Given the description of an element on the screen output the (x, y) to click on. 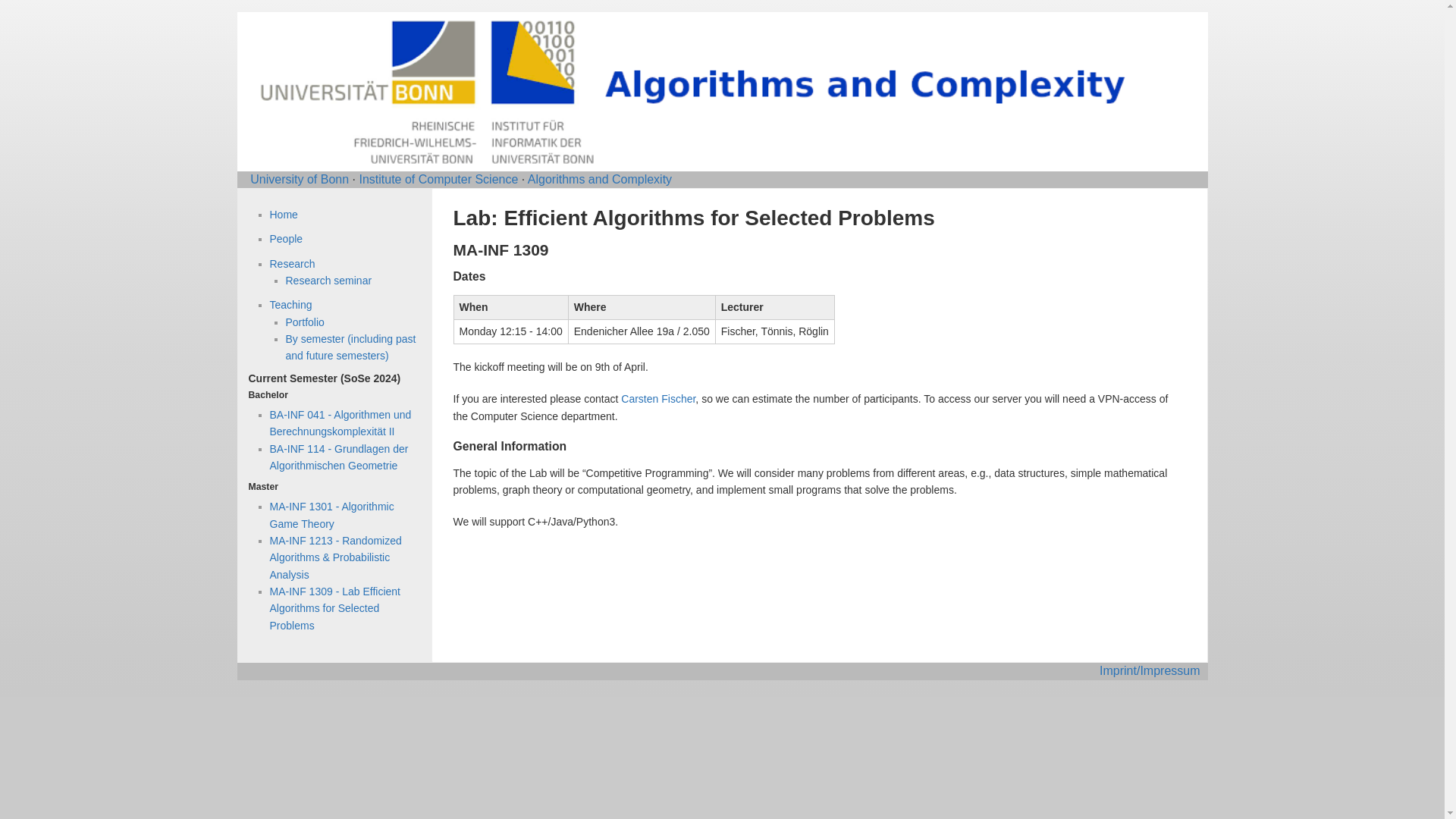
teaching:start (349, 346)
MA-INF 1301 - Algorithmic Game Theory (331, 514)
teaching:ss24:vl-alg-geo (339, 457)
Home (283, 214)
people:start (285, 238)
teaching:ss24:vl-rapa (335, 557)
Teaching (291, 304)
People (285, 238)
University of Bonn (299, 178)
teaching:portfolio (304, 322)
start (283, 214)
BA-INF 114 - Grundlagen der Algorithmischen Geometrie (339, 457)
teaching:start (291, 304)
teaching:ss24:vl-algo-ii (340, 422)
Research seminar (328, 280)
